Given the description of an element on the screen output the (x, y) to click on. 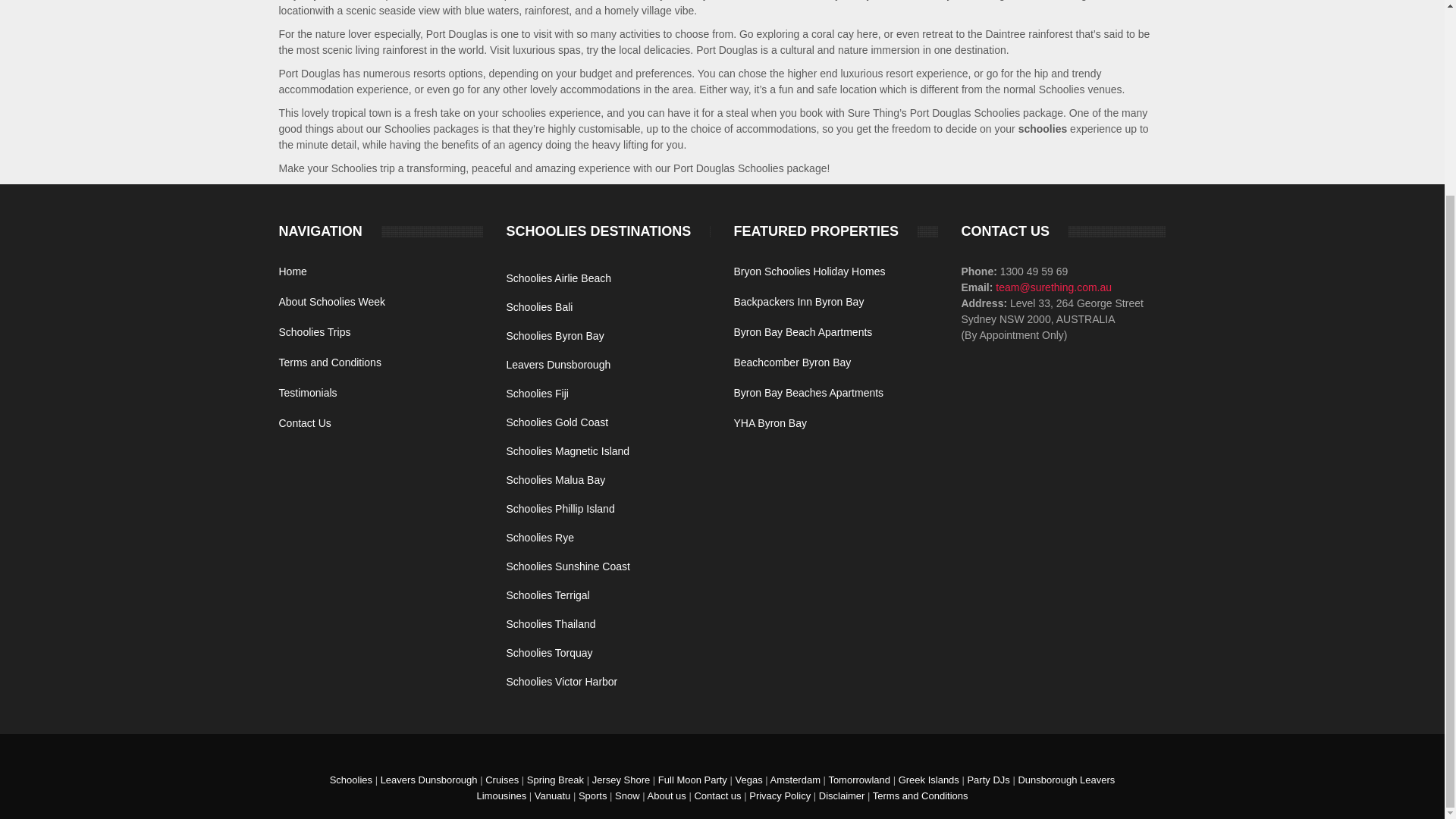
Dunsborough Leavers (1066, 779)
Home (293, 271)
Schoolies Sunshine Coast (566, 566)
Schoolies Byron Bay (554, 336)
YHA Byron Bay (769, 422)
Testimonials (308, 392)
Vegas (748, 779)
Amsterdam (795, 779)
Schoolies Thailand (550, 623)
Party DJs (987, 779)
Limousines (500, 795)
Schoolies (351, 779)
Schoolies Magnetic Island (566, 451)
Beachcomber Byron Bay (791, 362)
Schoolies Phillip Island (559, 508)
